Given the description of an element on the screen output the (x, y) to click on. 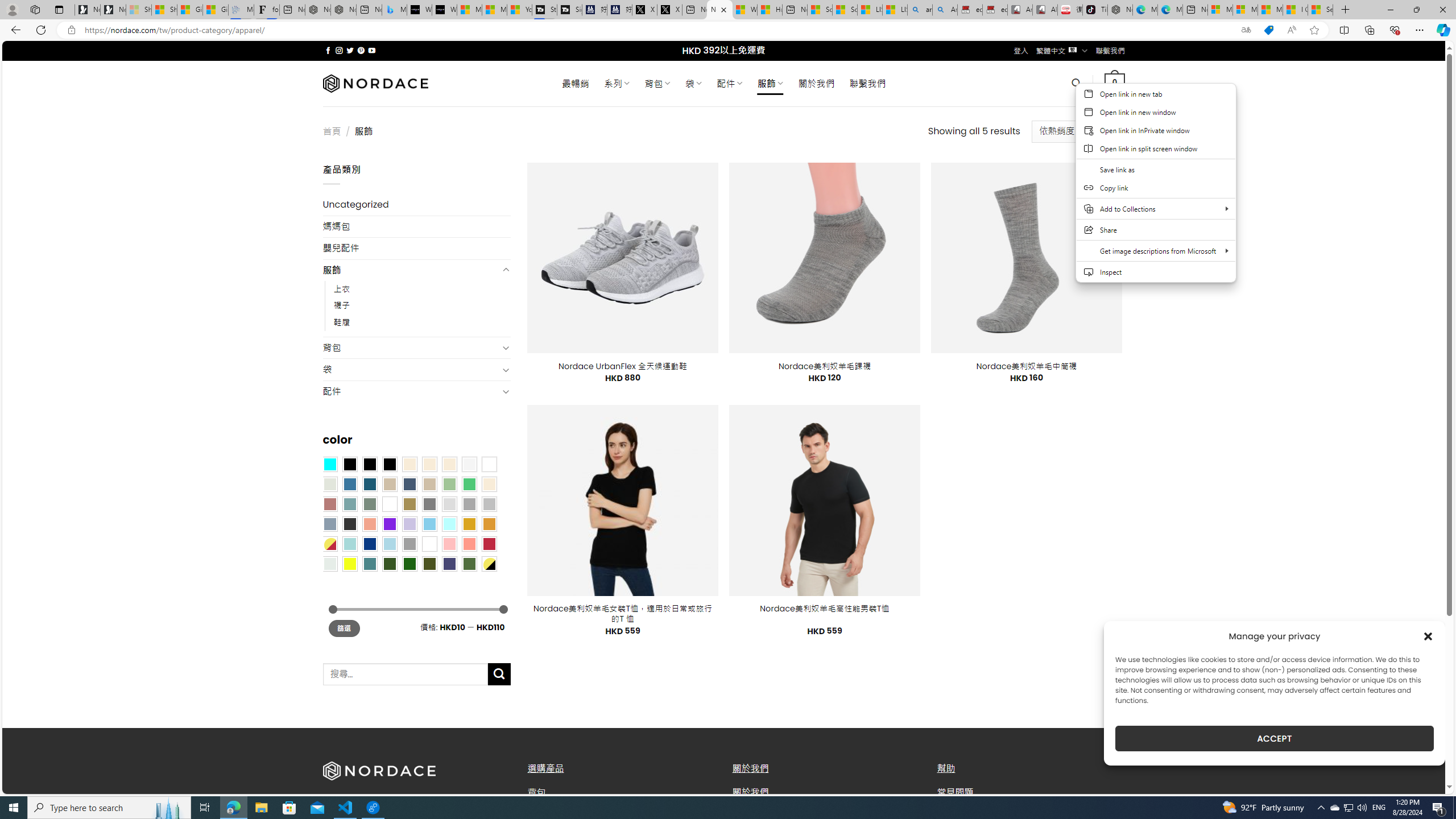
Follow on Twitter (349, 50)
Dull Nickle (329, 563)
Copy link (1155, 187)
